Given the description of an element on the screen output the (x, y) to click on. 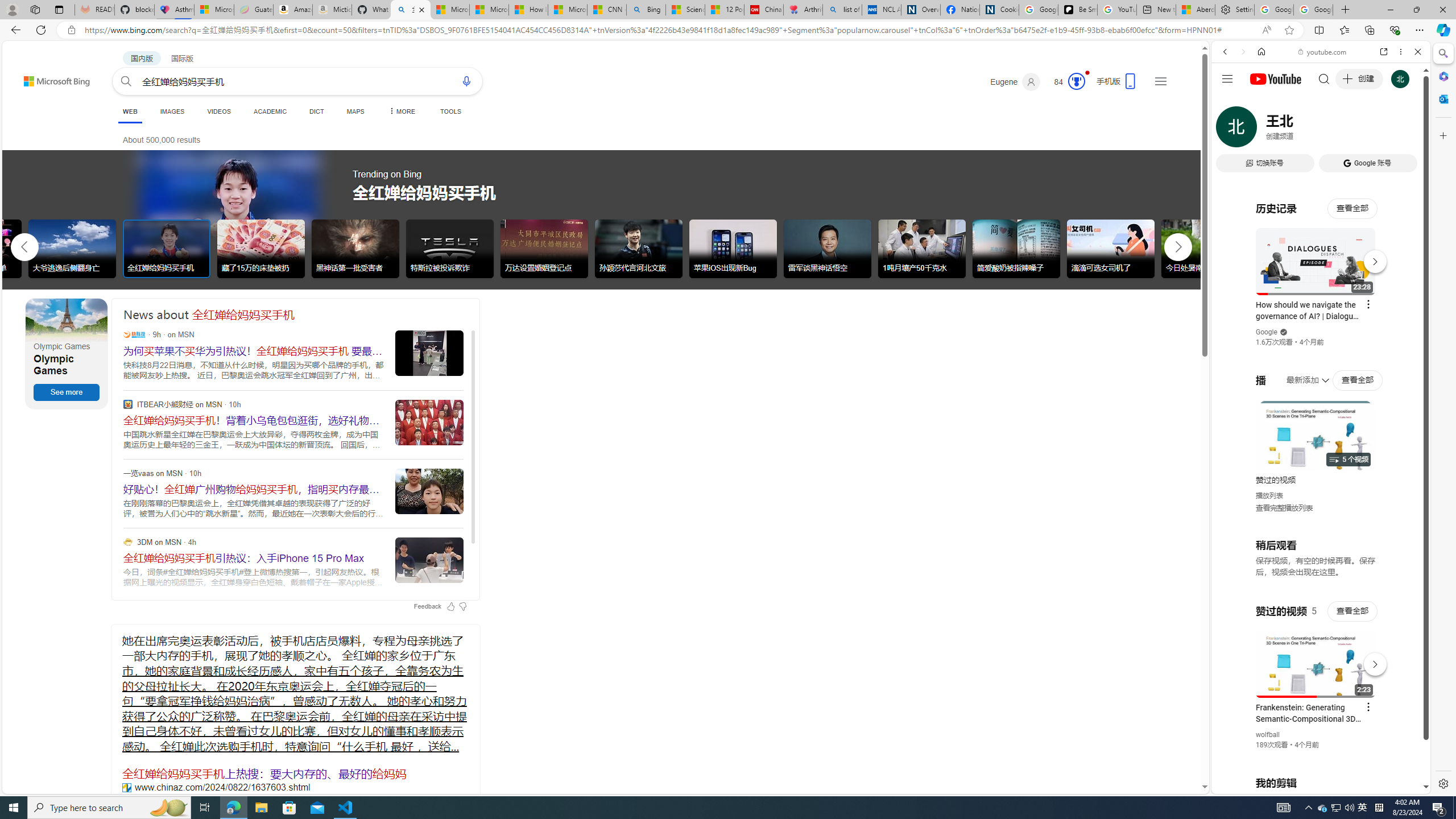
Search Filter, IMAGES (1262, 129)
Search using voice (465, 80)
YouTube (1315, 655)
Click to scroll right (1407, 456)
Music (1320, 309)
